Given the description of an element on the screen output the (x, y) to click on. 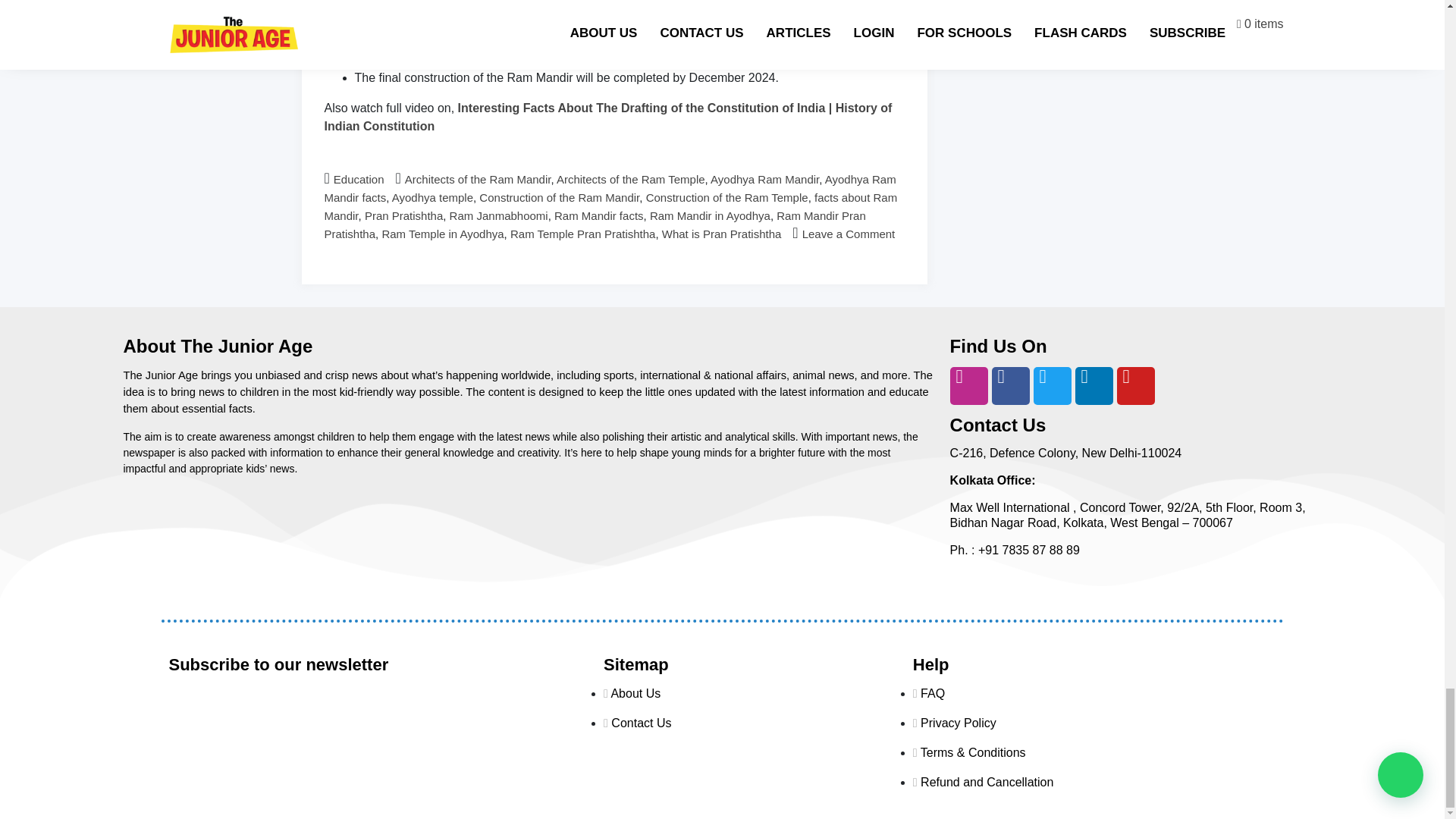
Ram Mandir Pran Pratishtha (595, 224)
Ram Mandir in Ayodhya (709, 215)
Architects of the Ram Mandir (477, 178)
Ayodhya temple (432, 196)
Ayodhya Ram Mandir facts (610, 187)
Ram Temple in Ayodhya (442, 233)
Ayodhya Ram Mandir (764, 178)
Ram Mandir facts (598, 215)
Ram Janmabhoomi (498, 215)
Construction of the Ram Temple (727, 196)
Pran Pratishtha (403, 215)
facts about Ram Mandir (611, 205)
Architects of the Ram Temple (630, 178)
Education (358, 178)
Construction of the Ram Mandir (559, 196)
